Given the description of an element on the screen output the (x, y) to click on. 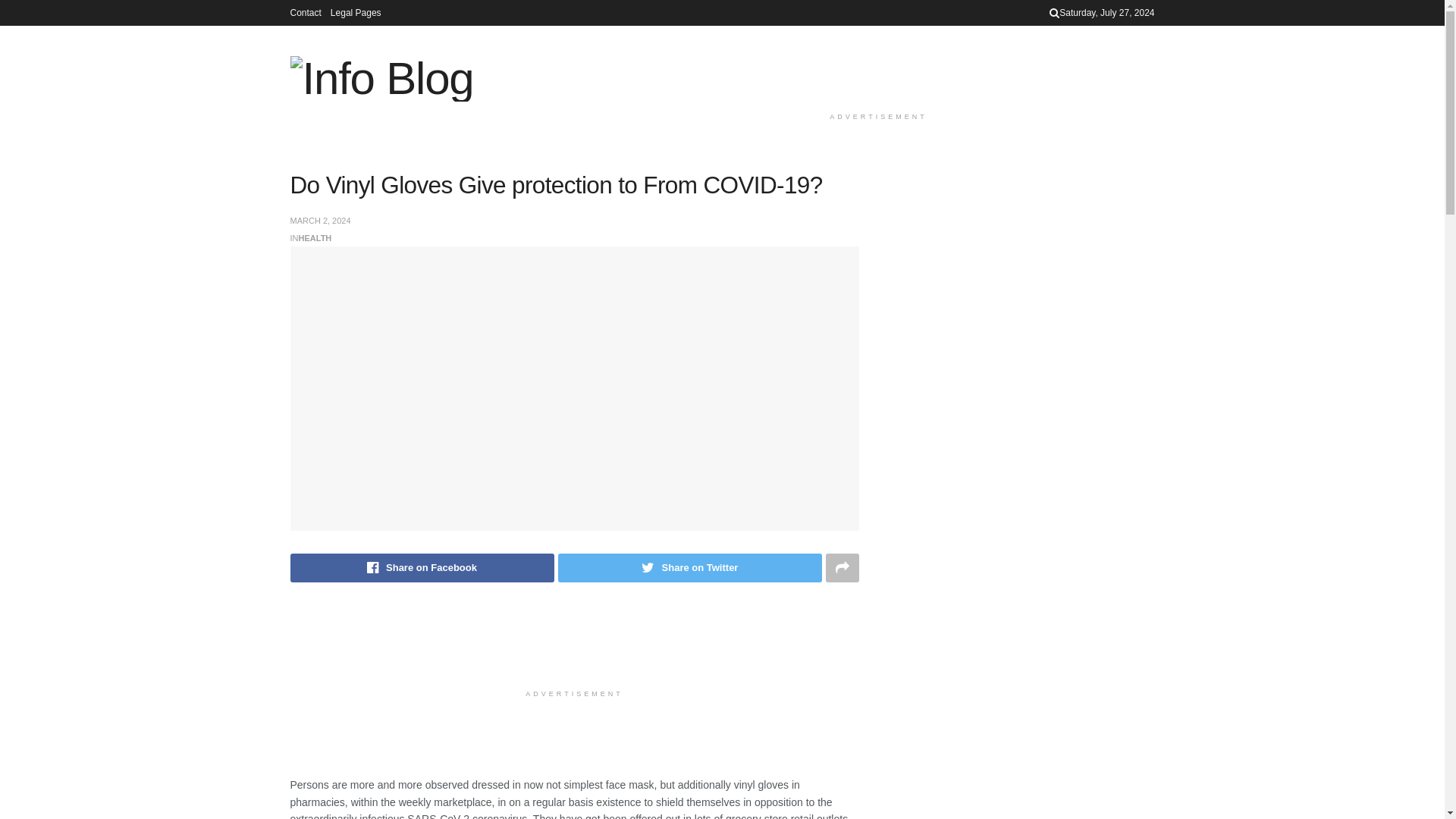
Legal Pages (355, 12)
Share on Twitter (689, 567)
Contact (304, 12)
MARCH 2, 2024 (319, 220)
Share on Facebook (421, 567)
HEALTH (314, 237)
